Given the description of an element on the screen output the (x, y) to click on. 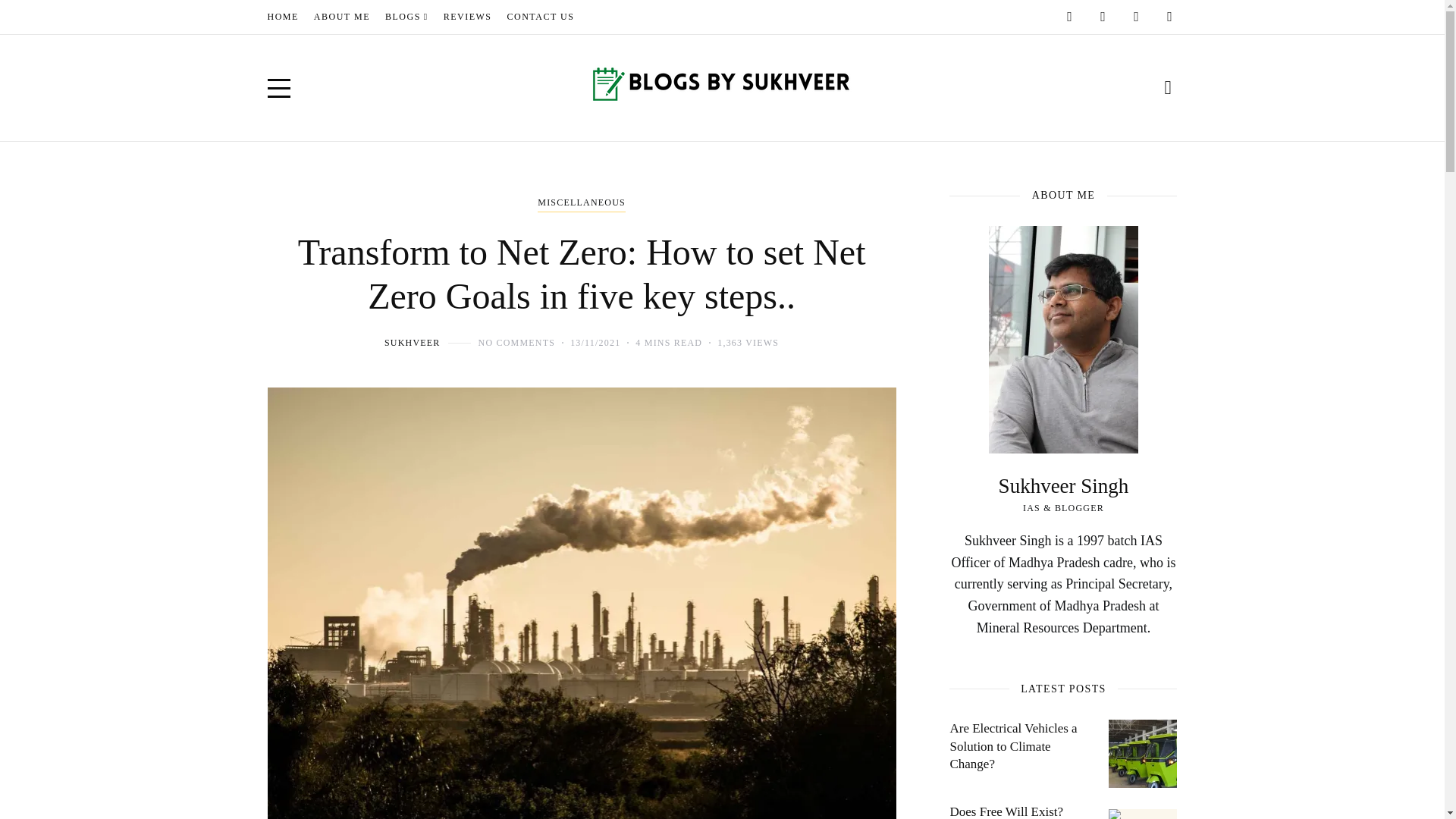
CONTACT US (540, 17)
BLOGS (406, 17)
Twitter (1135, 16)
Categories (581, 203)
Logo (722, 87)
SUKHVEER (412, 342)
Facebook (1069, 16)
Instagram (1102, 16)
REVIEWS (467, 17)
HOME (282, 17)
MISCELLANEOUS (581, 203)
ABOUT ME (341, 17)
NO COMMENTS (517, 342)
LinkedIn (1169, 16)
